Given the description of an element on the screen output the (x, y) to click on. 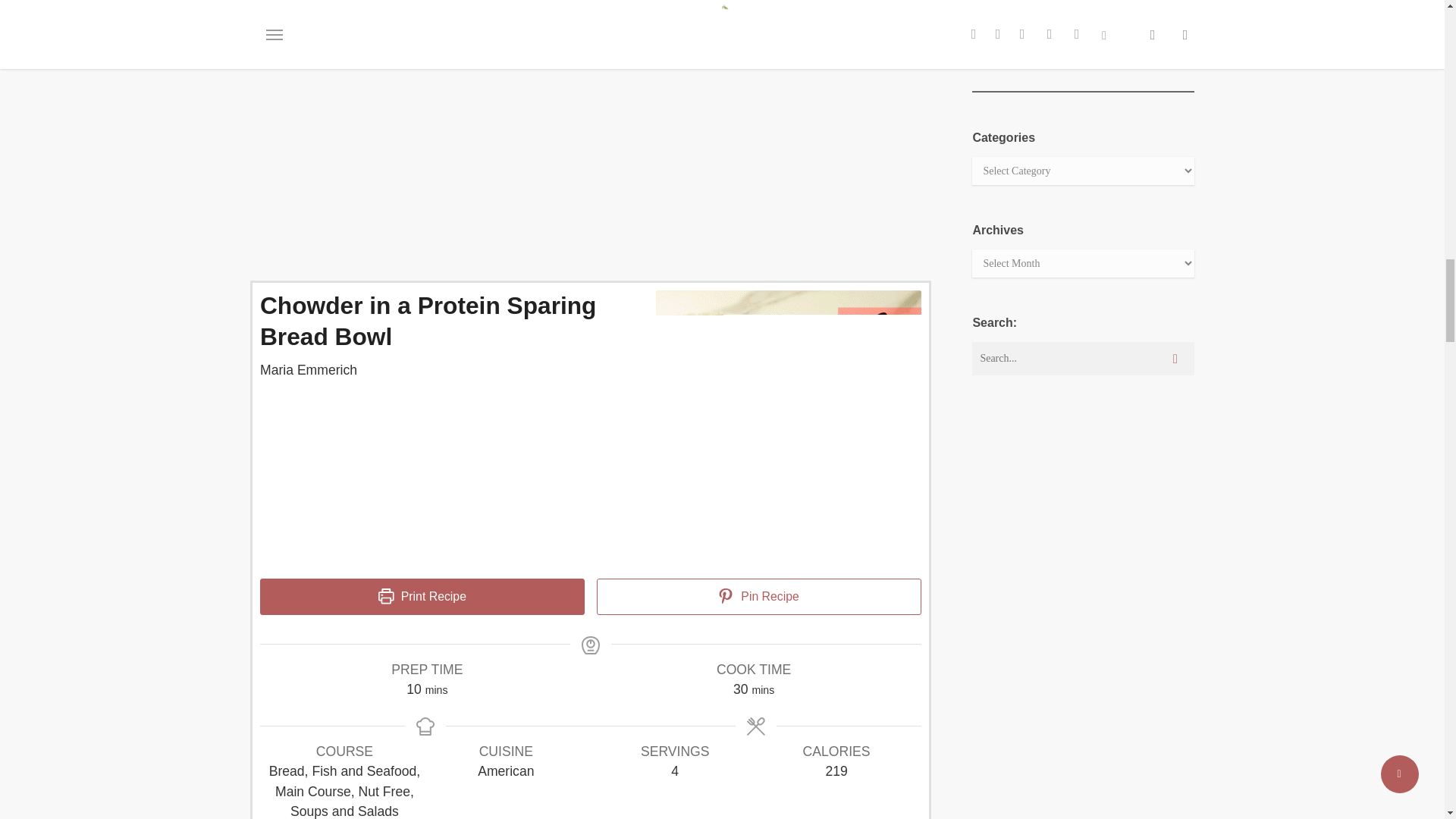
Search for: (1082, 358)
Pin Recipe (758, 596)
Print Recipe (422, 596)
